Given the description of an element on the screen output the (x, y) to click on. 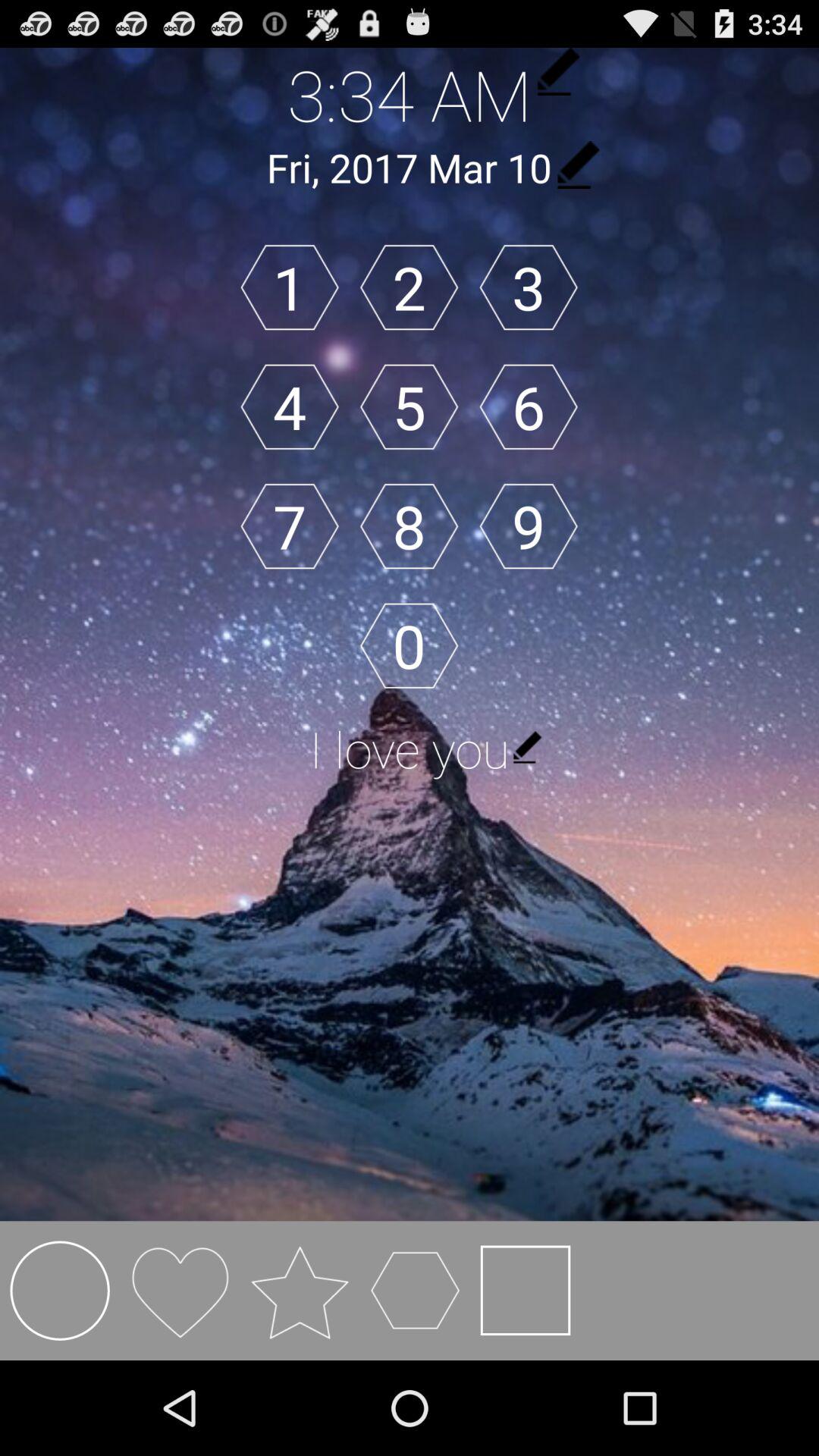
tap item above the 8 (408, 406)
